Given the description of an element on the screen output the (x, y) to click on. 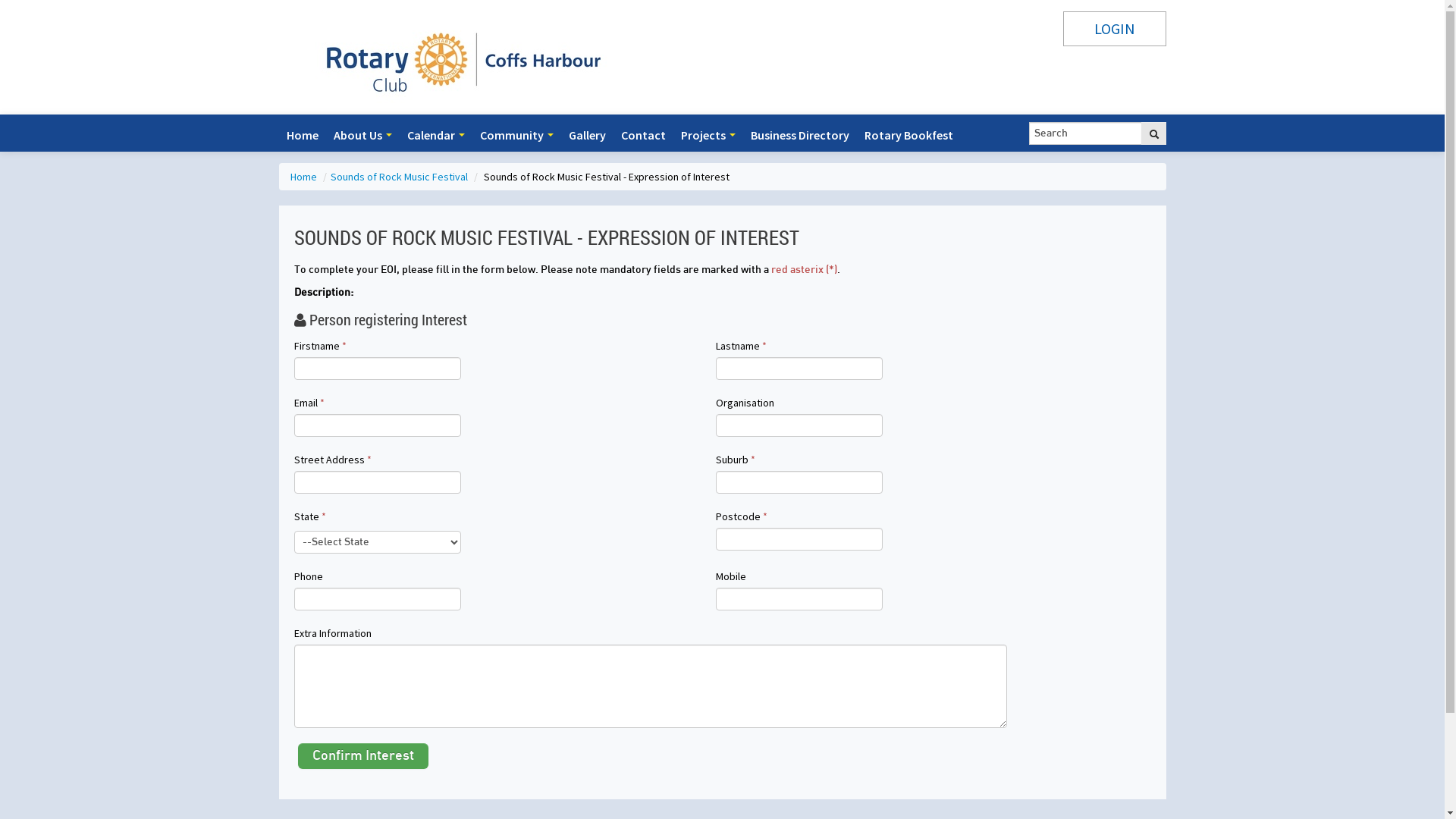
Home Element type: text (303, 176)
Sounds of Rock Music Festival Element type: text (400, 176)
LOGIN Element type: text (1114, 28)
Confirm Interest Element type: text (363, 755)
Projects Element type: text (708, 134)
Gallery Element type: text (587, 134)
Community Element type: text (515, 134)
Rotary Bookfest Element type: text (908, 134)
Contact Element type: text (642, 134)
Business Directory Element type: text (799, 134)
About Us Element type: text (362, 134)
Home Element type: text (302, 134)
Calendar Element type: text (434, 134)
